Given the description of an element on the screen output the (x, y) to click on. 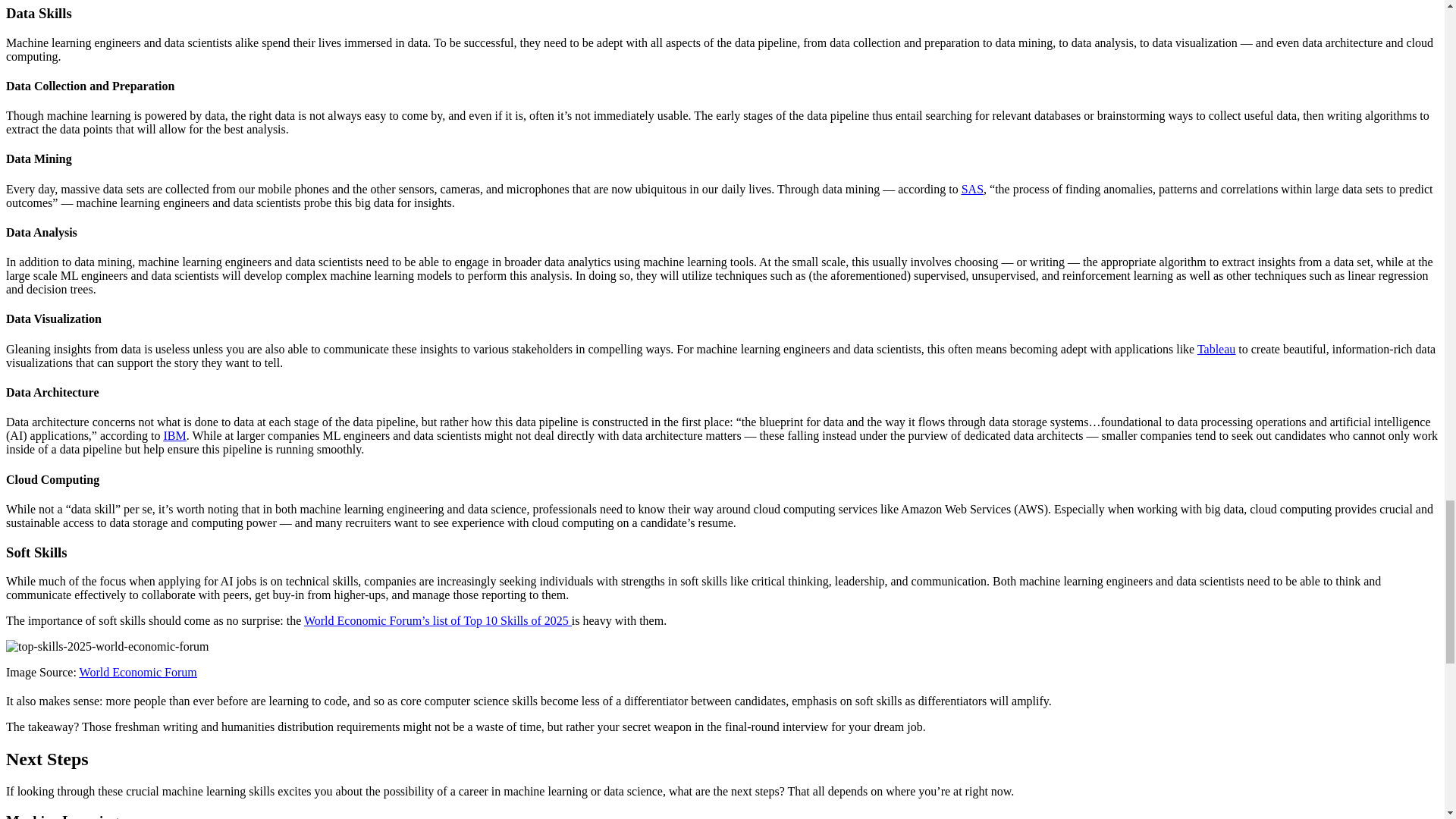
World Economic Forum (138, 671)
IBM (174, 435)
Tableau (1215, 349)
SAS (972, 188)
